Given the description of an element on the screen output the (x, y) to click on. 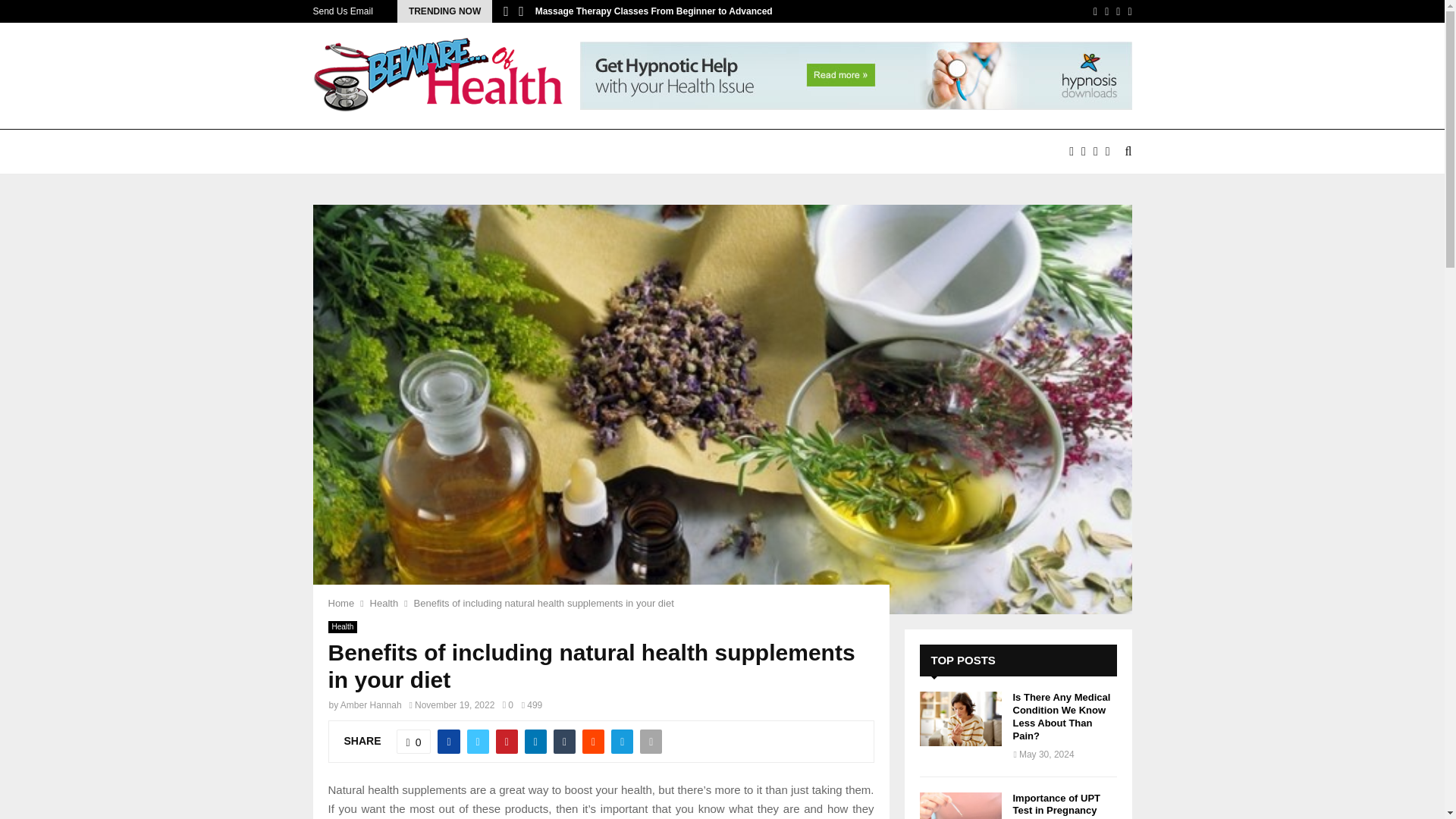
HEALTH (639, 151)
THERAPY (898, 151)
SUPPLEMENT (808, 151)
FITNESS (568, 151)
ACUPRESSURE (425, 151)
HOME (342, 151)
NUTRITION (716, 151)
Massage Therapy Classes From Beginner to Advanced (654, 10)
Like (413, 741)
Send Us Email (342, 11)
TREATMENT (981, 151)
DIET (506, 151)
